Given the description of an element on the screen output the (x, y) to click on. 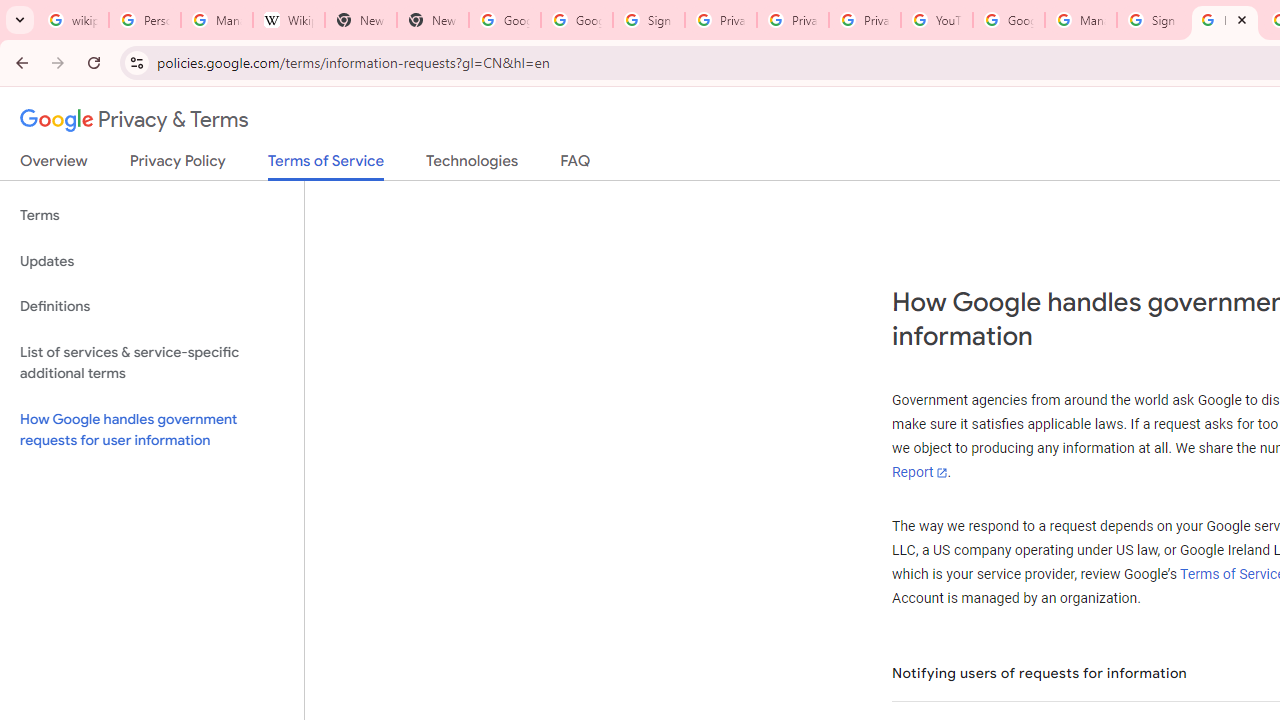
Definitions (152, 306)
List of services & service-specific additional terms (152, 362)
Google Account Help (1008, 20)
Sign in - Google Accounts (1153, 20)
Personalization & Google Search results - Google Search Help (144, 20)
New Tab (360, 20)
